Given the description of an element on the screen output the (x, y) to click on. 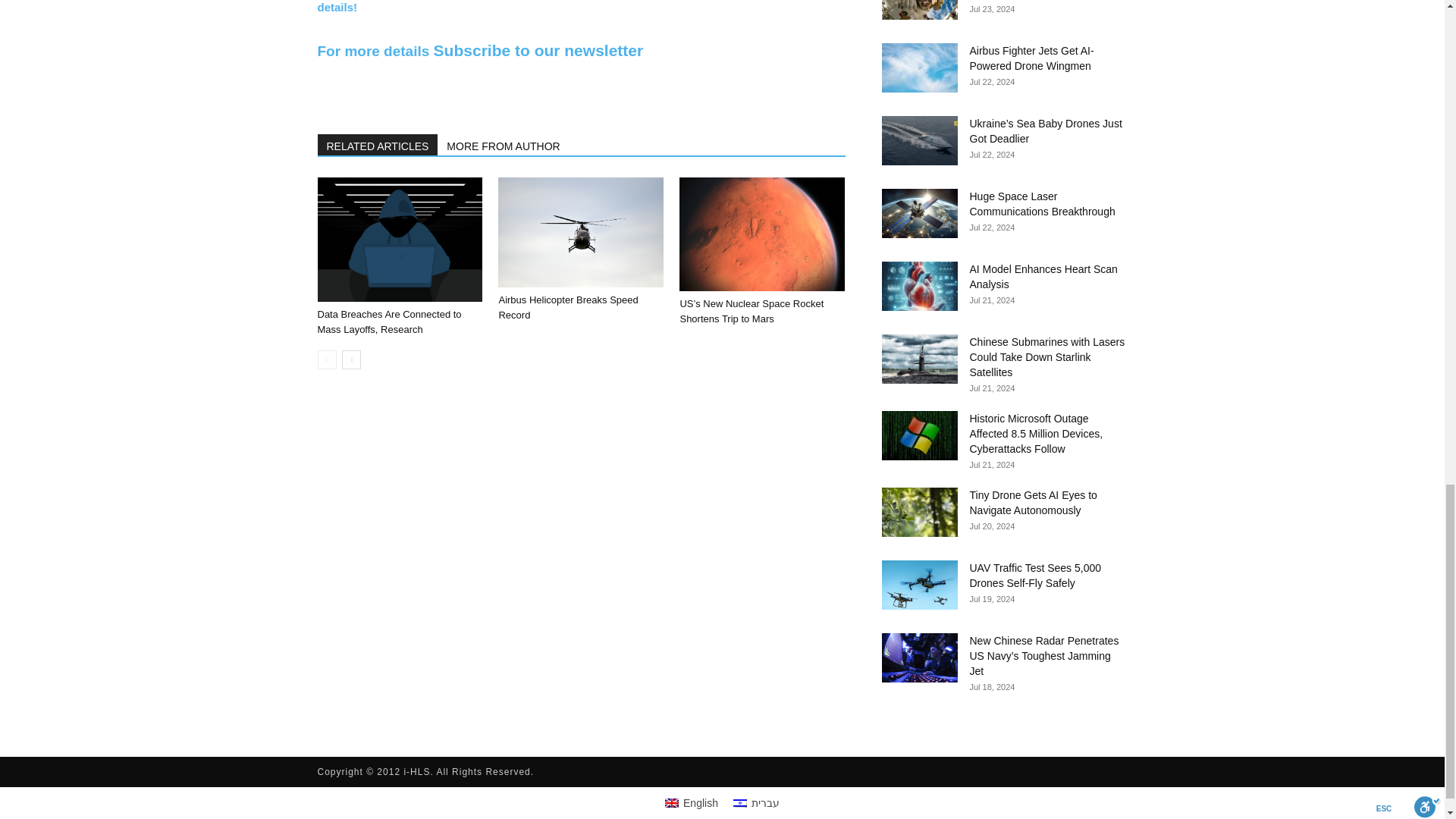
Airbus Helicopter Breaks Speed Record (580, 232)
Data Breaches Are Connected to Mass Layoffs, Research (389, 321)
Data Breaches Are Connected to Mass Layoffs, Research (399, 239)
Airbus Helicopter Breaks Speed Record (567, 307)
